Given the description of an element on the screen output the (x, y) to click on. 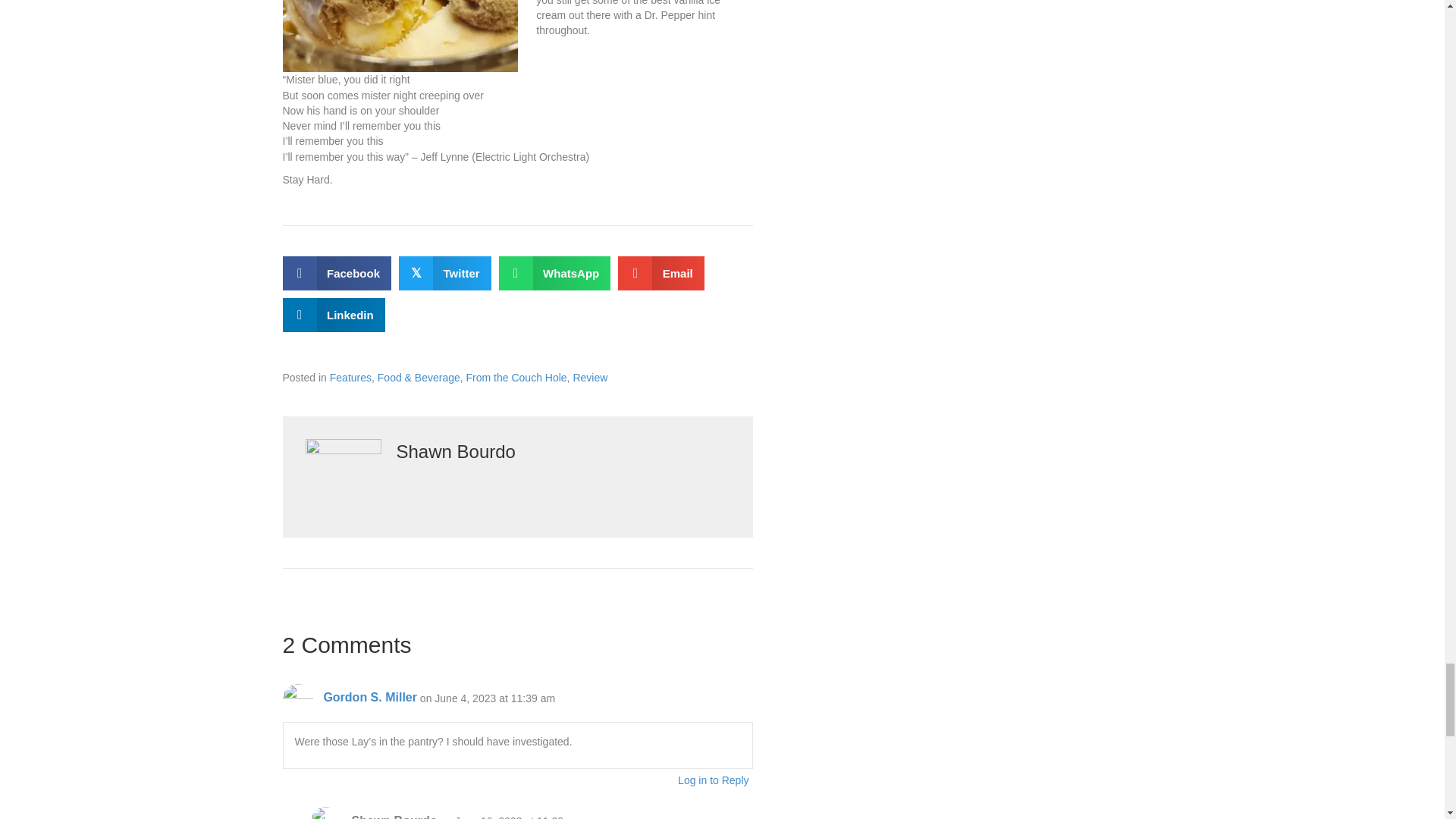
Email (660, 273)
Gordon S. Miller (369, 697)
Log in to Reply (713, 779)
WhatsApp (555, 273)
Review (589, 377)
Facebook (336, 273)
Features (350, 377)
Linkedin (333, 315)
From the Couch Hole (516, 377)
